Given the description of an element on the screen output the (x, y) to click on. 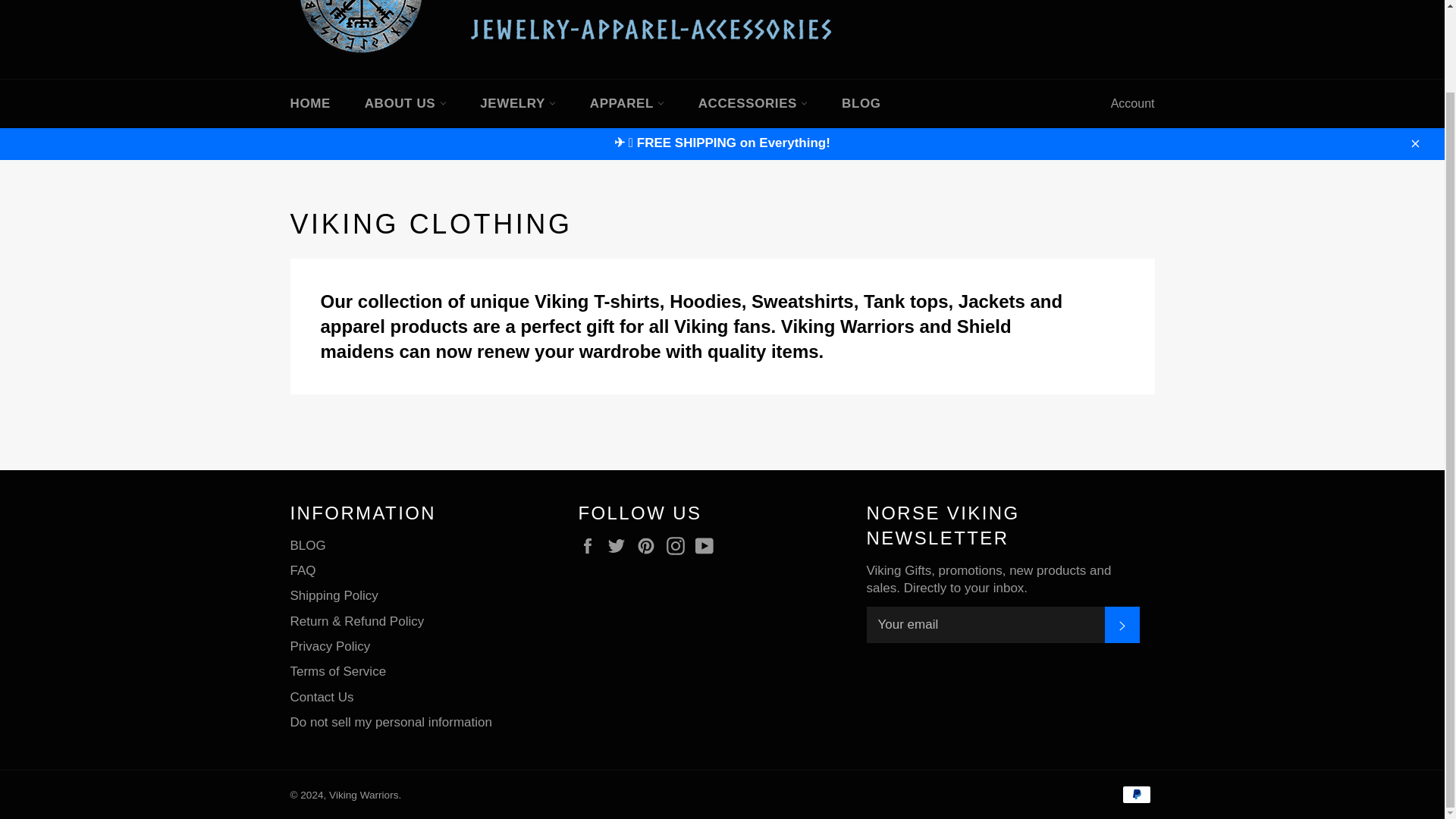
Viking Warriors on Instagram (679, 546)
Viking Warriors on YouTube (707, 546)
Viking Warriors on Facebook (591, 546)
Viking Warriors on Pinterest (649, 546)
Viking Warriors on Twitter (620, 546)
